Given the description of an element on the screen output the (x, y) to click on. 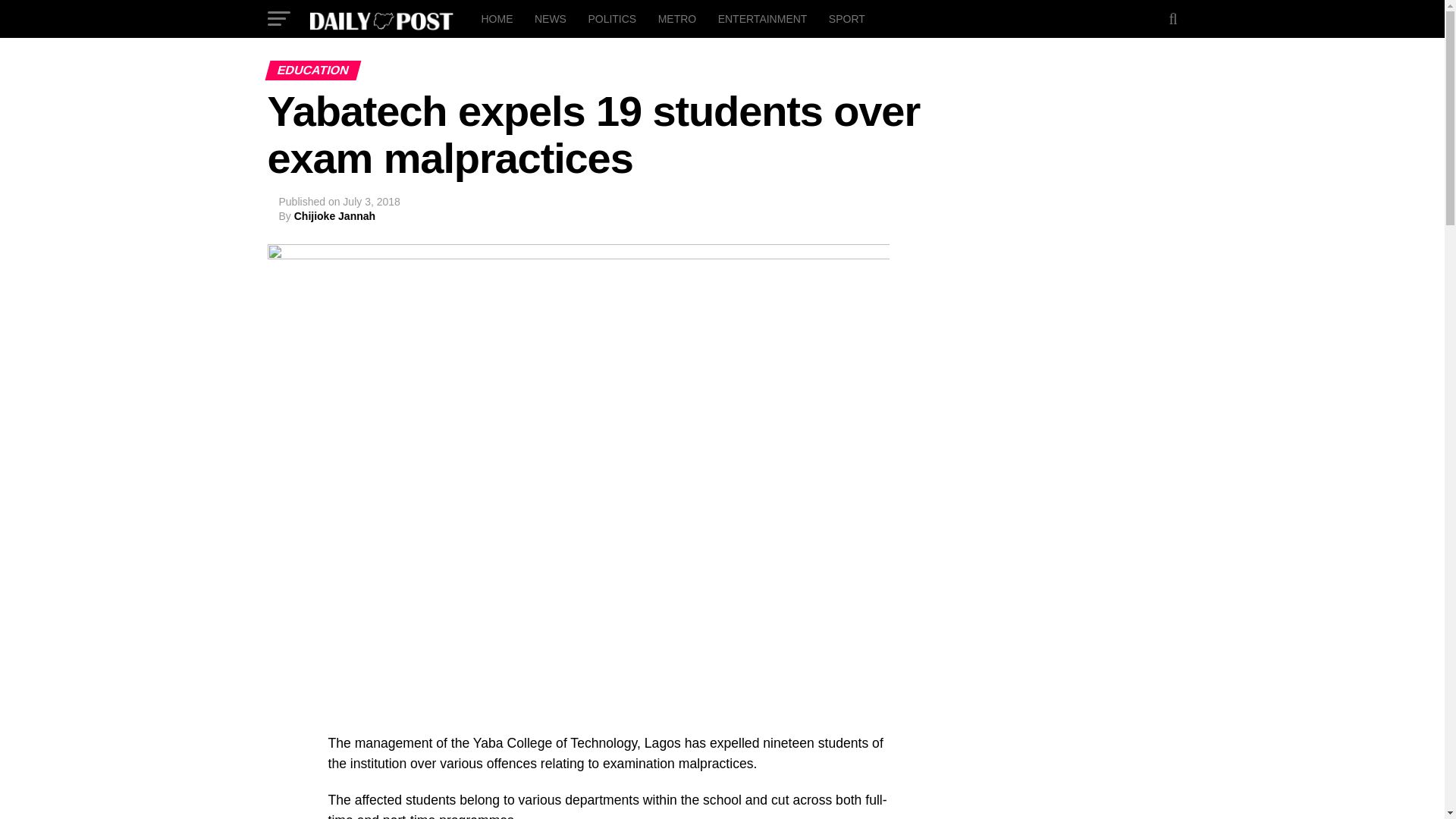
Posts by Chijioke Jannah (334, 215)
SPORT (847, 18)
Chijioke Jannah (334, 215)
METRO (677, 18)
ENTERTAINMENT (762, 18)
HOME (496, 18)
POLITICS (611, 18)
NEWS (550, 18)
